Given the description of an element on the screen output the (x, y) to click on. 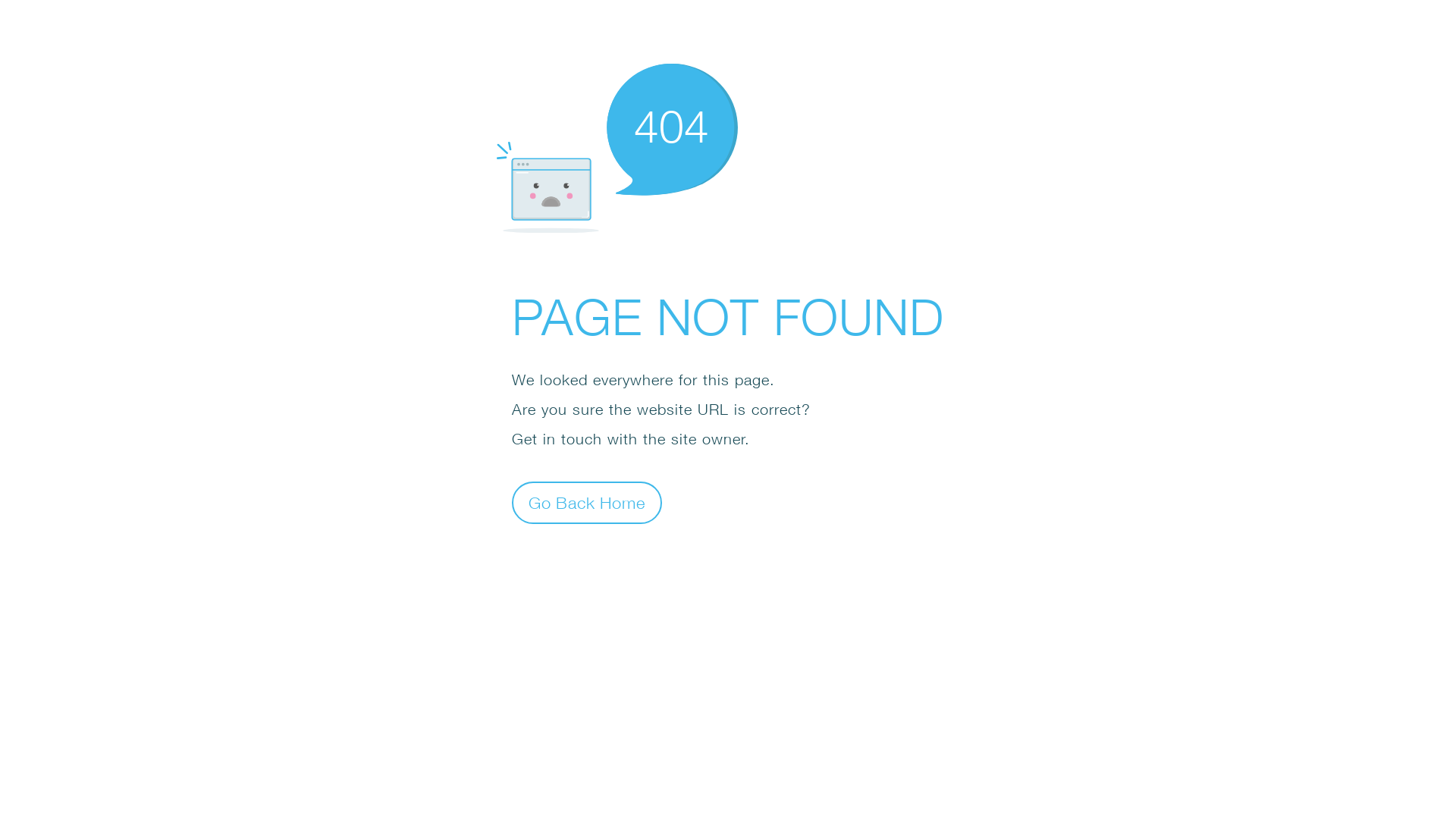
Go Back Home Element type: text (586, 502)
